Given the description of an element on the screen output the (x, y) to click on. 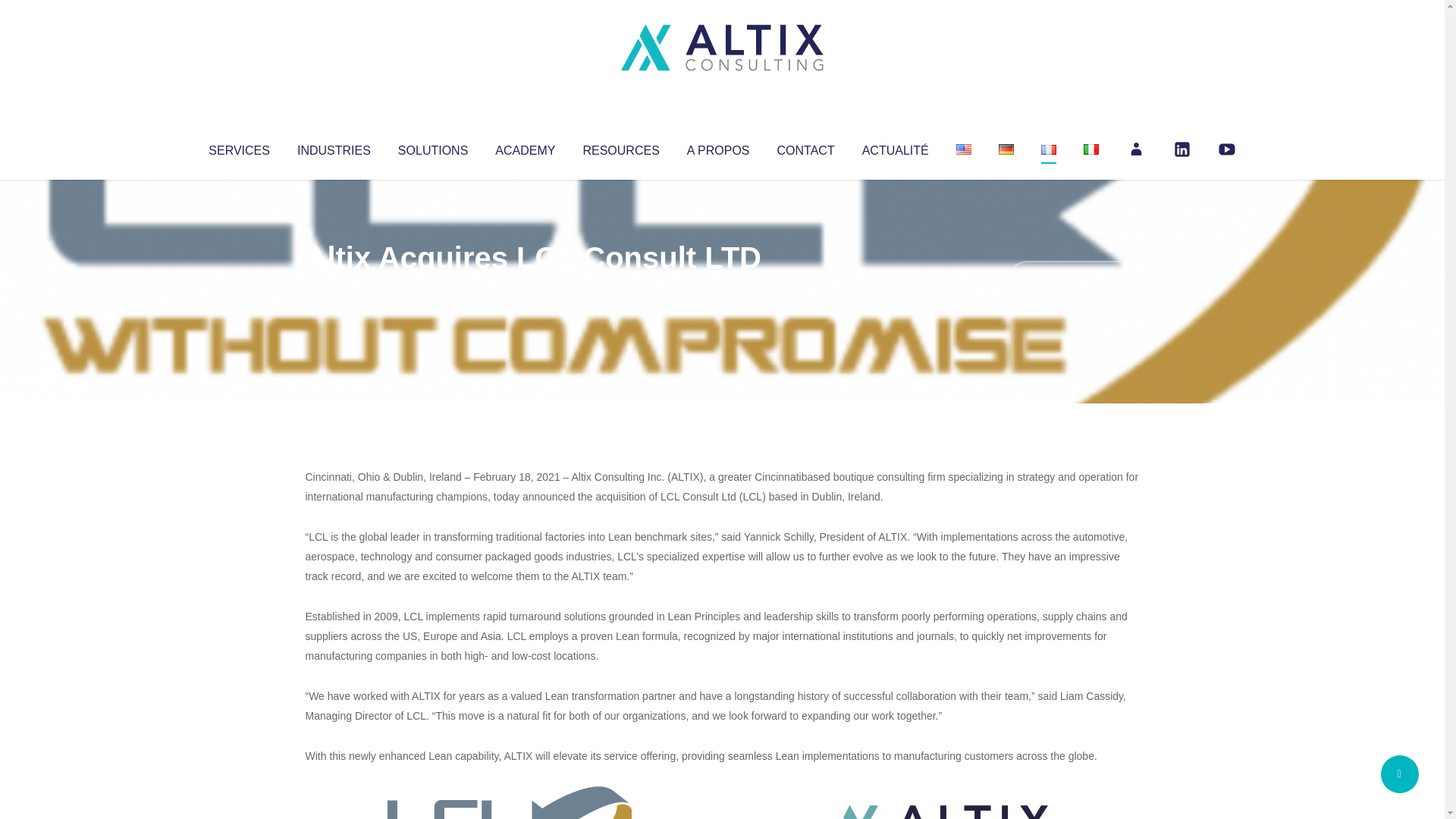
Altix (333, 287)
SERVICES (238, 146)
RESOURCES (620, 146)
ACADEMY (524, 146)
SOLUTIONS (432, 146)
INDUSTRIES (334, 146)
A PROPOS (718, 146)
Uncategorized (530, 287)
Articles par Altix (333, 287)
No Comments (1073, 278)
